Given the description of an element on the screen output the (x, y) to click on. 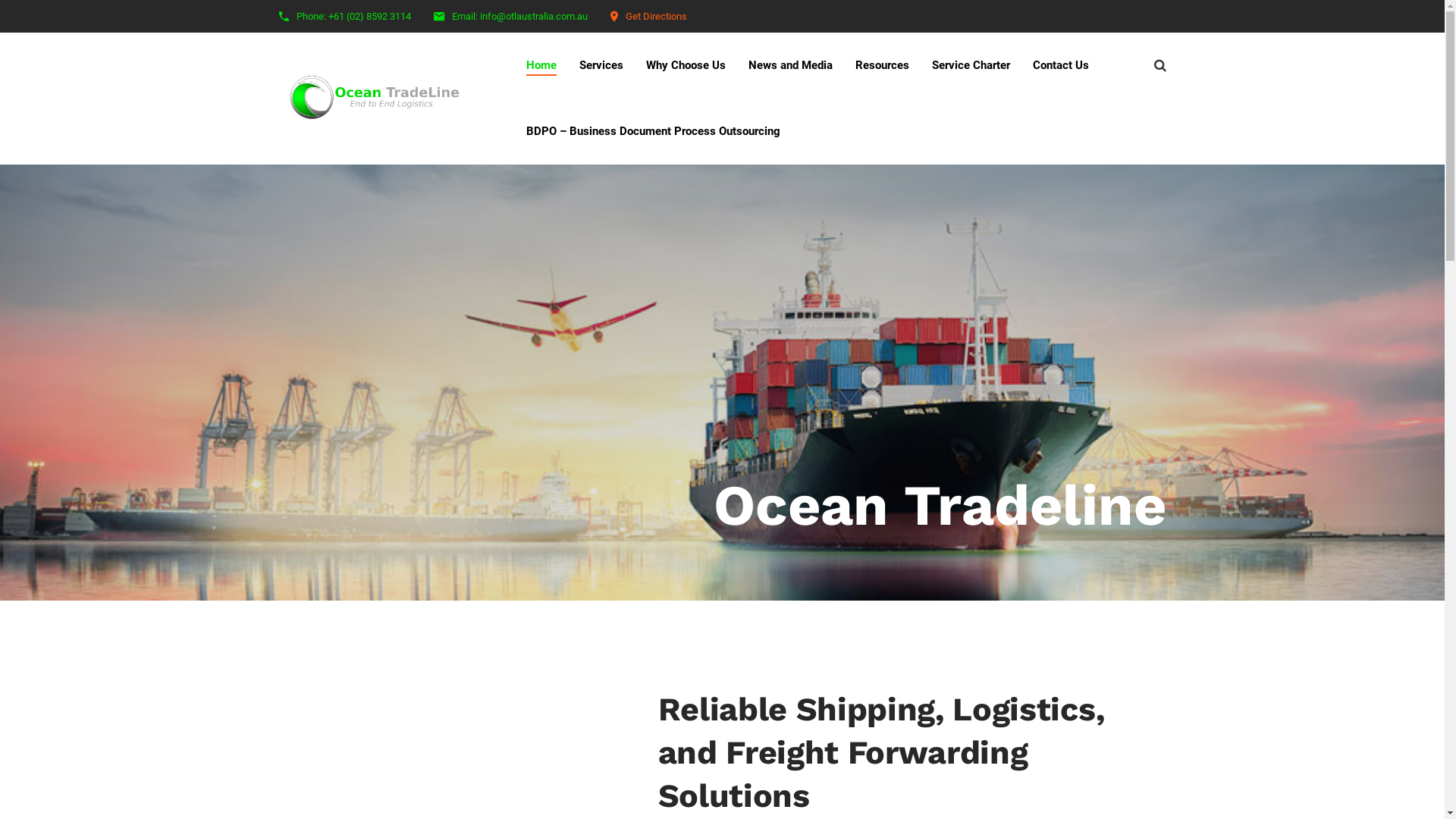
News and Media Element type: text (789, 65)
Service Charter Element type: text (970, 65)
Email: info@otlaustralia.com.au Element type: text (519, 16)
Get Directions Element type: text (655, 16)
Services Element type: text (601, 65)
Why Choose Us Element type: text (685, 65)
Logistics | Shipping | Freight Forwarding - Australia Element type: hover (381, 98)
Contact Us Element type: text (1060, 65)
Home Element type: text (541, 65)
Resources Element type: text (882, 65)
